Given the description of an element on the screen output the (x, y) to click on. 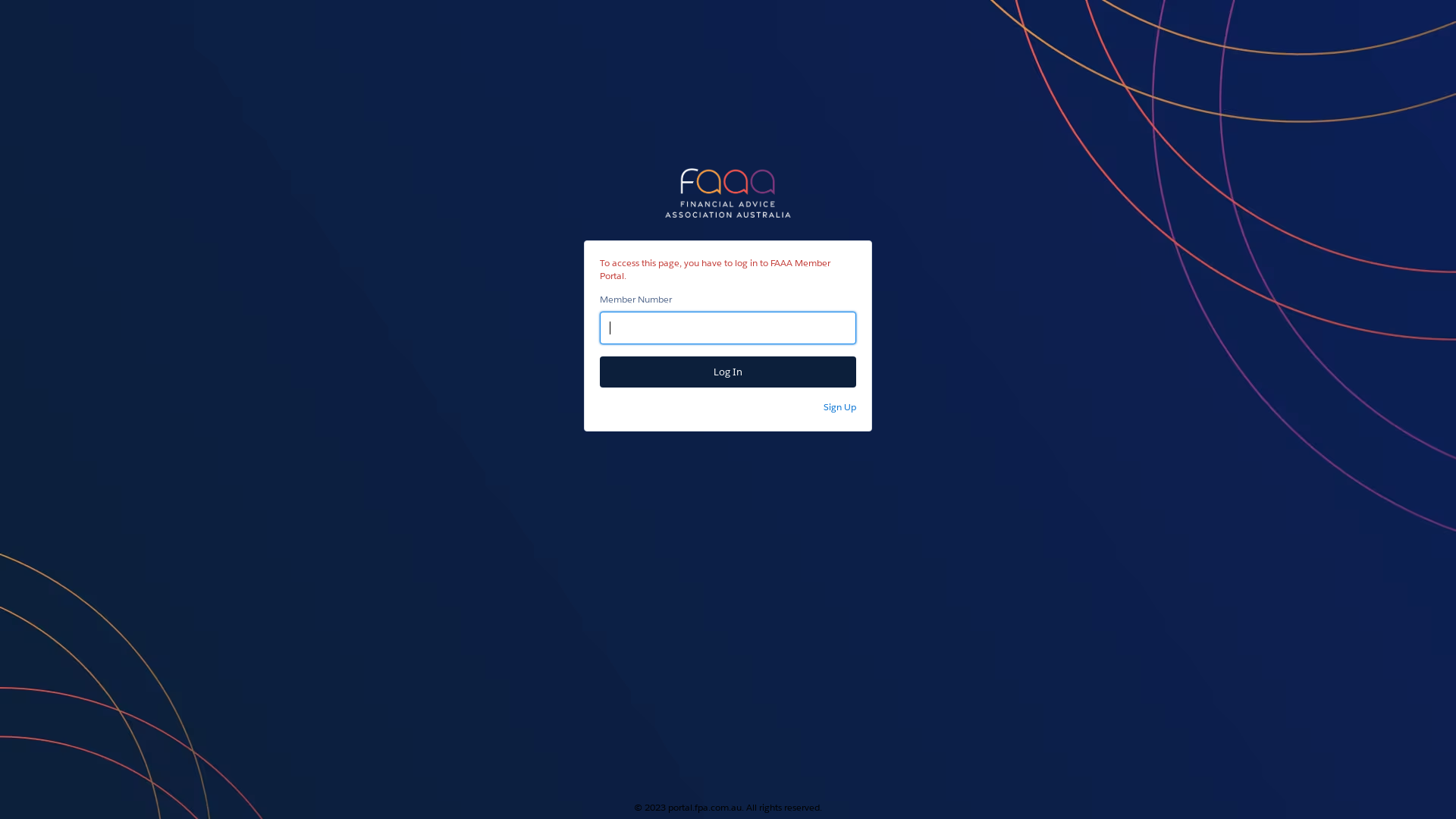
Sign Up Element type: text (839, 406)
Log In Element type: text (727, 371)
